Given the description of an element on the screen output the (x, y) to click on. 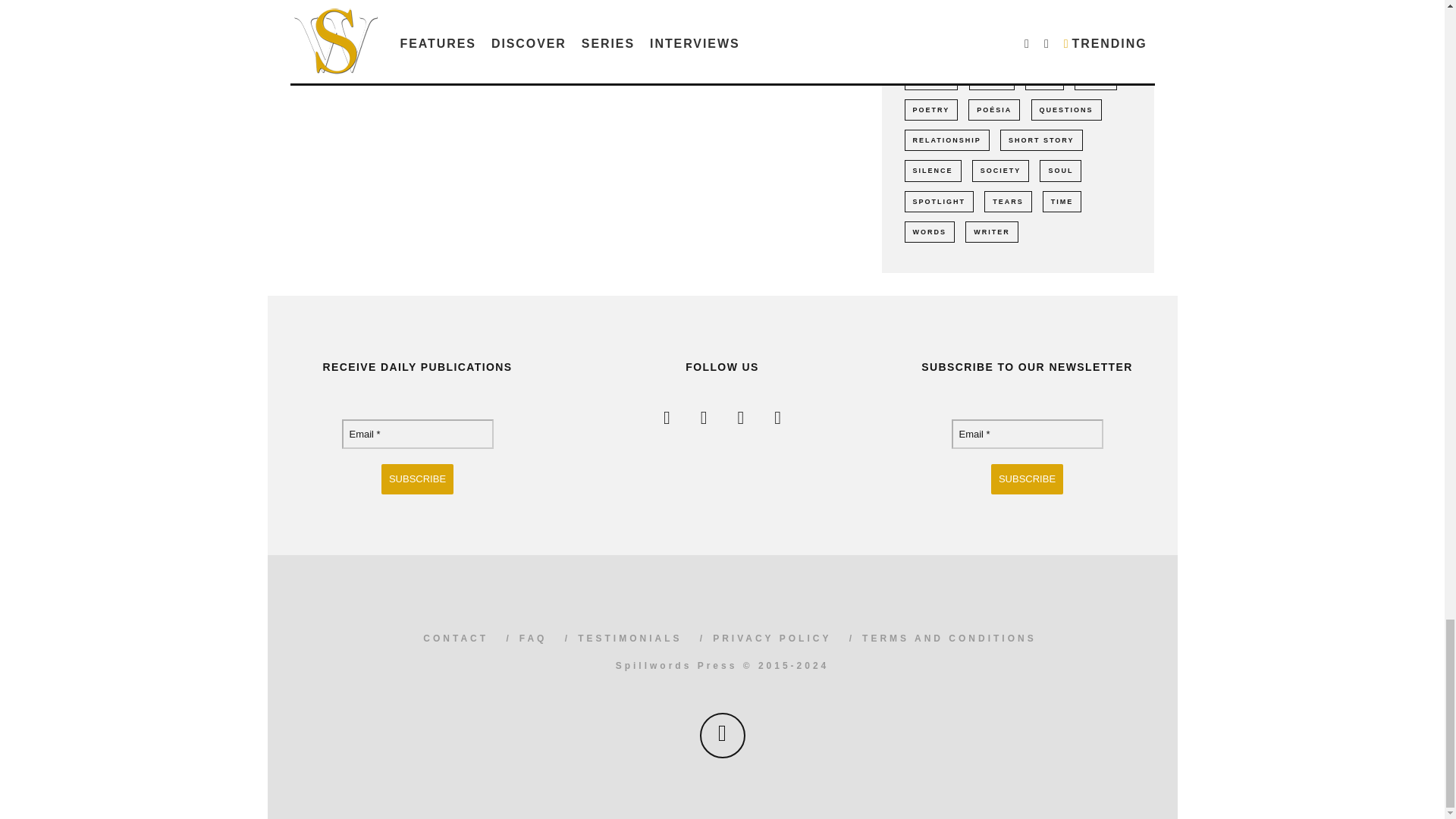
Subscribe (416, 479)
Email (416, 434)
Email (1026, 434)
Subscribe (1026, 479)
